Given the description of an element on the screen output the (x, y) to click on. 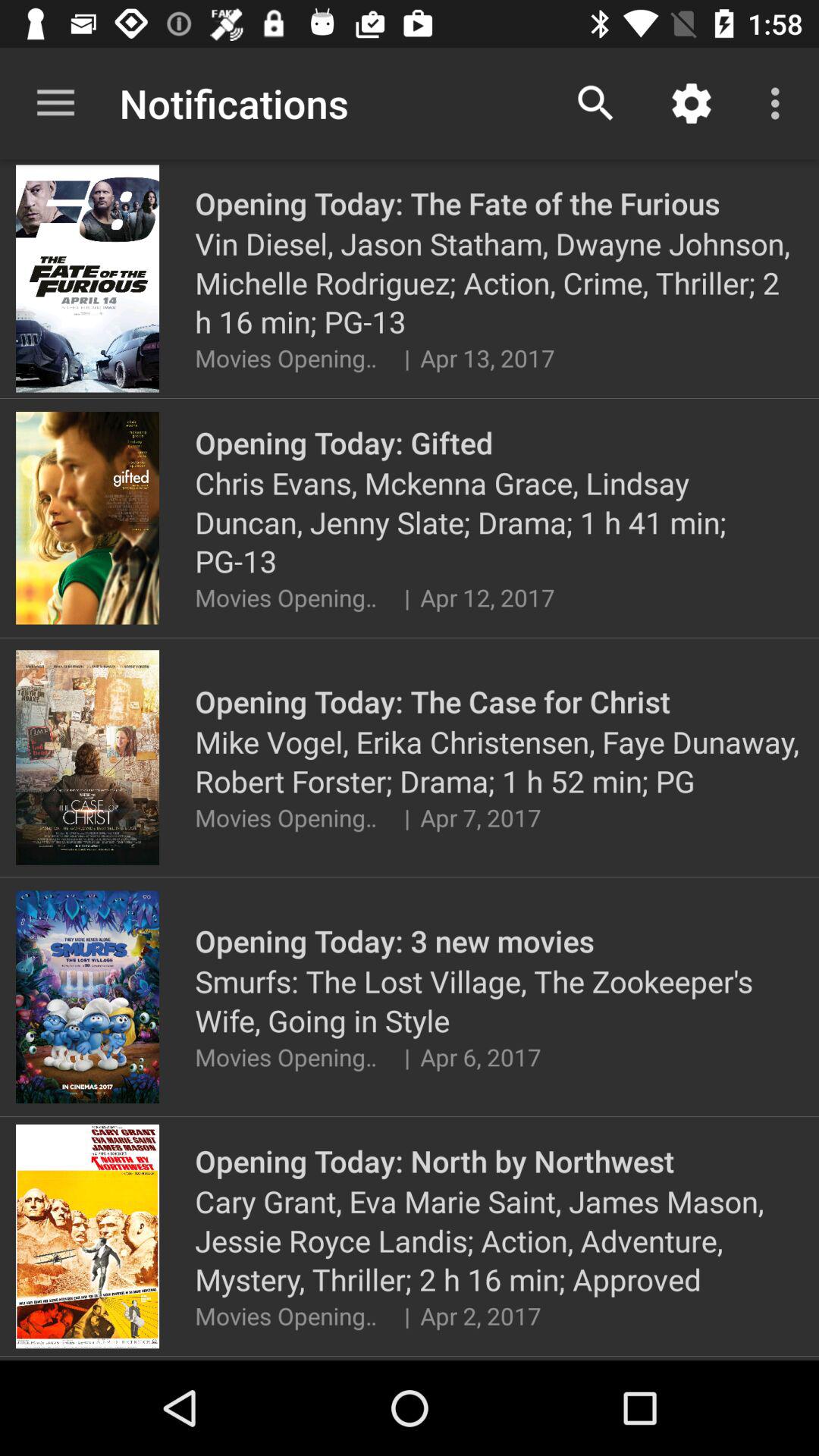
launch item below mike vogel erika item (407, 817)
